Given the description of an element on the screen output the (x, y) to click on. 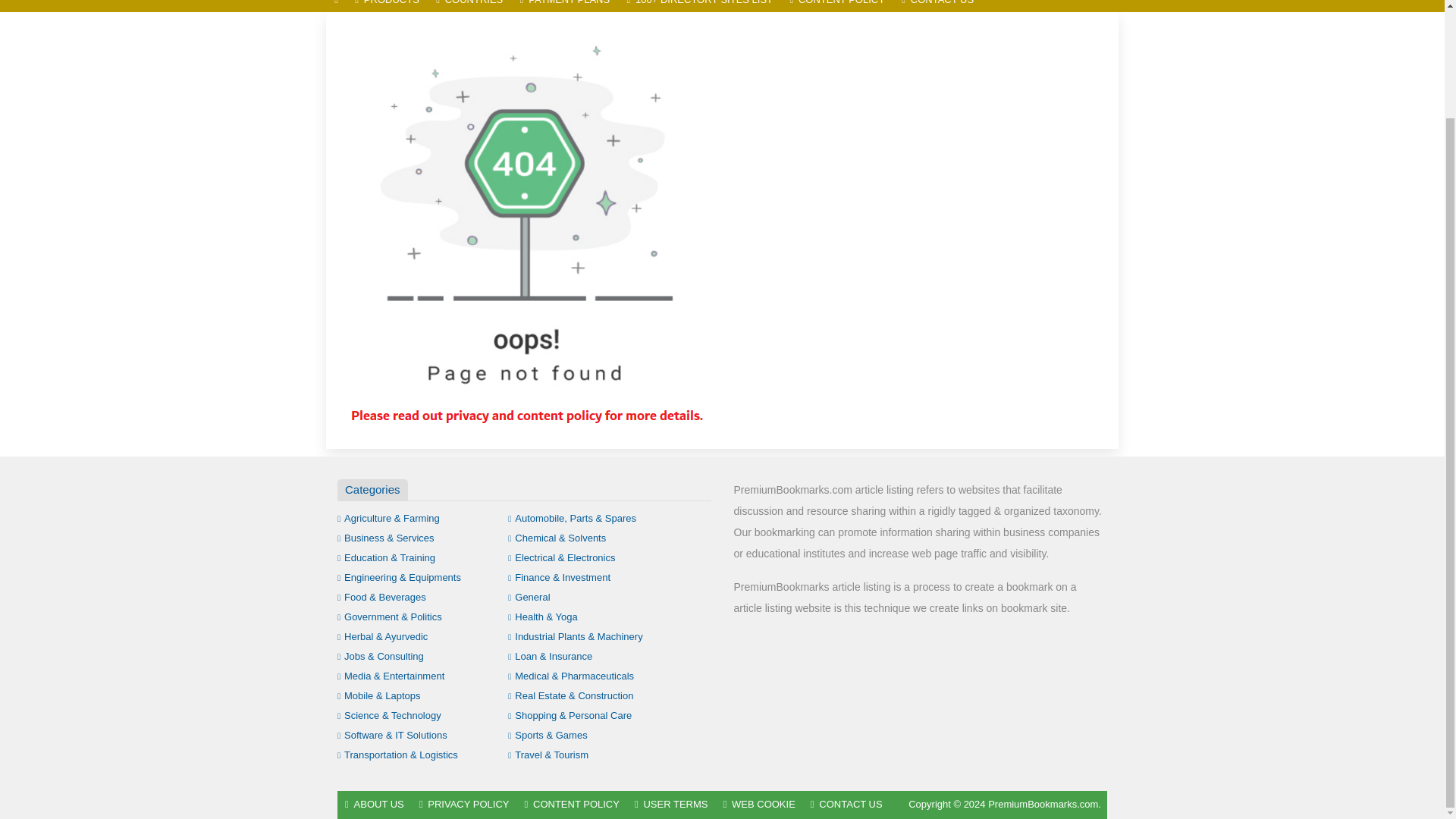
General (529, 596)
HOME (336, 6)
CONTENT POLICY (836, 6)
PAYMENT PLANS (564, 6)
PRODUCTS (387, 6)
COUNTRIES (469, 6)
CONTACT US (937, 6)
